Given the description of an element on the screen output the (x, y) to click on. 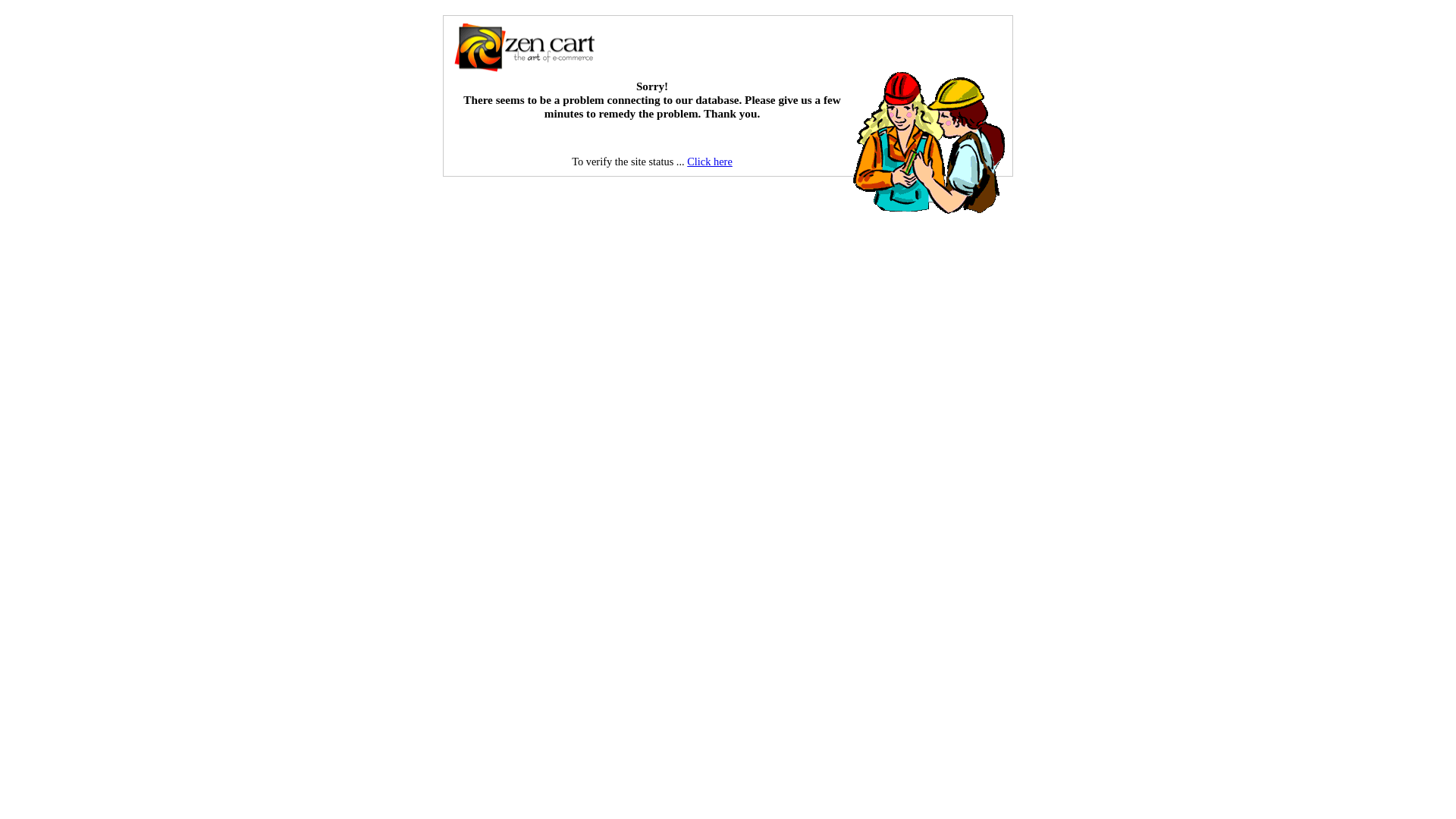
This Is my store logo. [home link] Element type: hover (523, 47)
Click here Element type: text (709, 161)
